Given the description of an element on the screen output the (x, y) to click on. 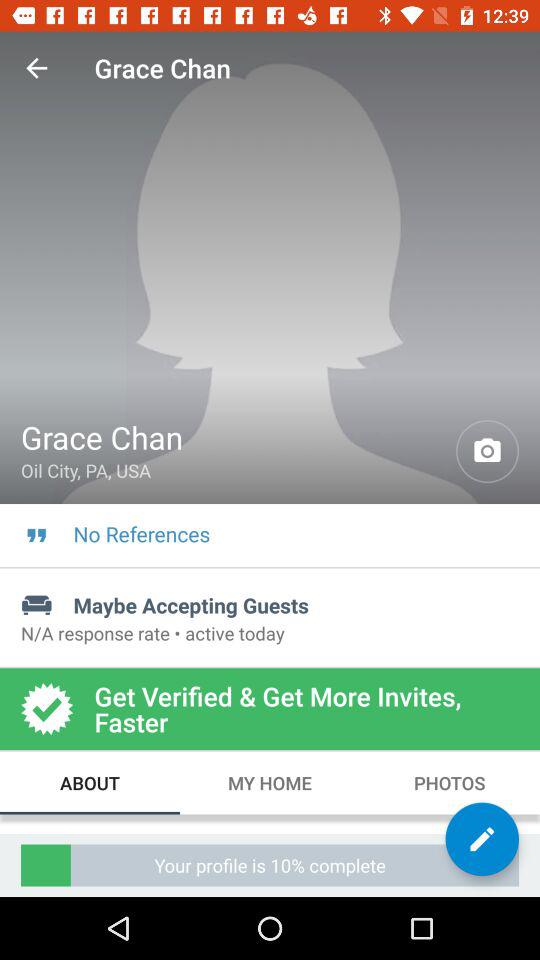
turn off the icon next to grace chan item (487, 451)
